Given the description of an element on the screen output the (x, y) to click on. 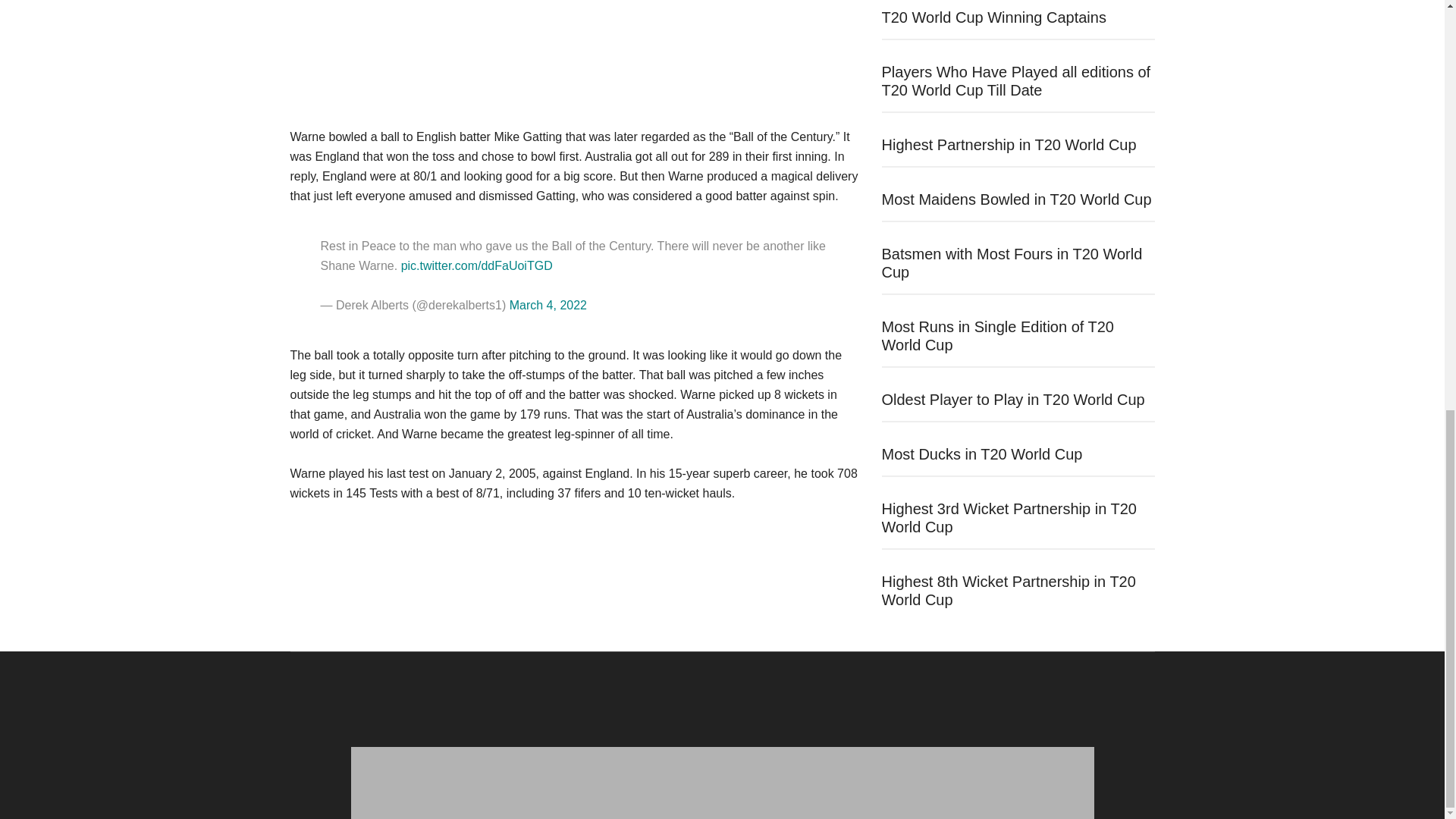
T20 World Cup Winning Captains (992, 17)
Most Maidens Bowled in T20 World Cup (1015, 199)
Batsmen with Most Fours in T20 World Cup (1010, 262)
Most Runs in Single Edition of T20 World Cup (996, 335)
March 4, 2022 (547, 305)
Oldest Player to Play in T20 World Cup (1012, 399)
Highest Partnership in T20 World Cup (1007, 144)
Most Ducks in T20 World Cup (980, 453)
Advertisement (574, 59)
